Given the description of an element on the screen output the (x, y) to click on. 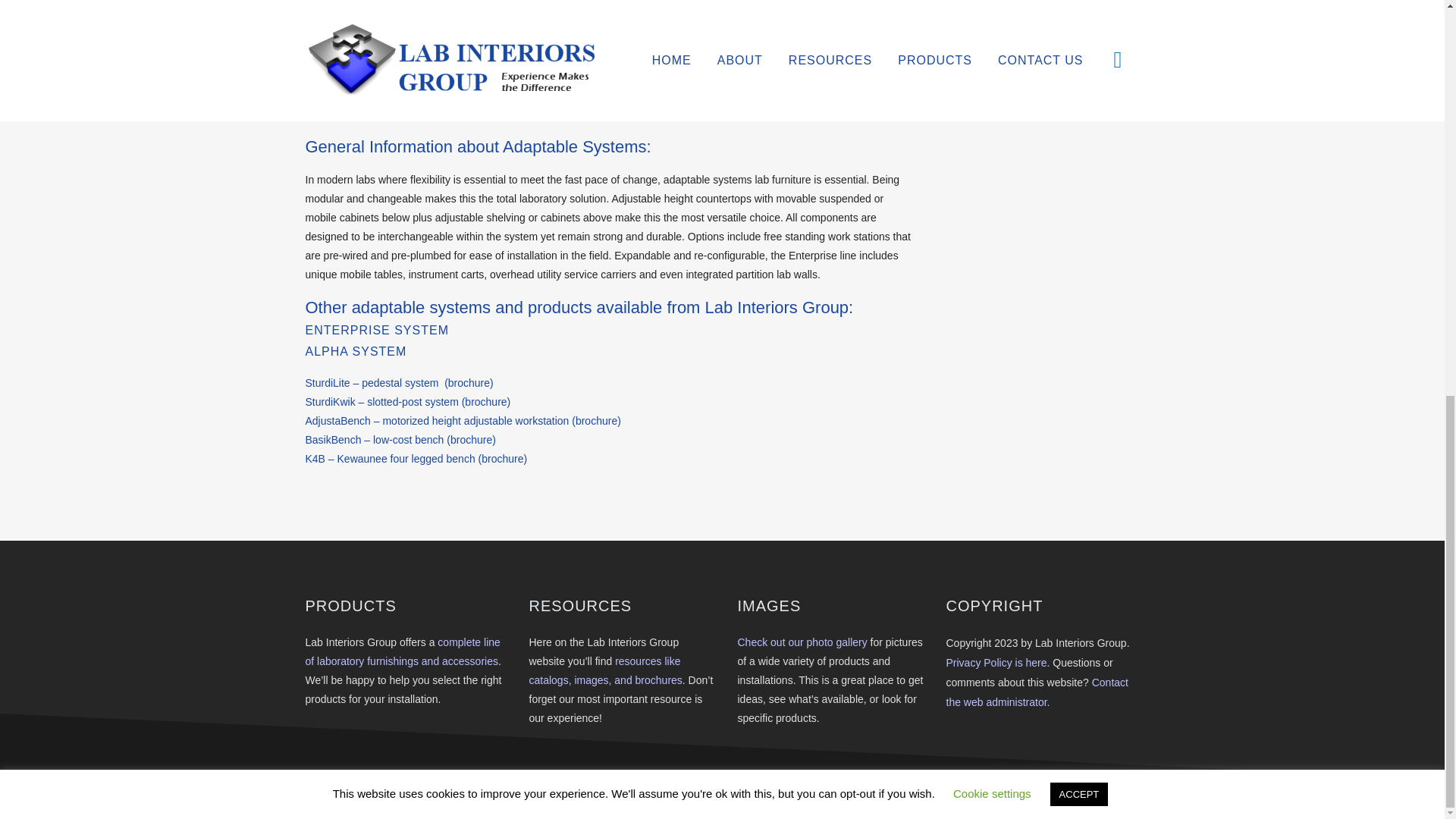
Alpha System (355, 350)
Enterprise System (376, 329)
